Given the description of an element on the screen output the (x, y) to click on. 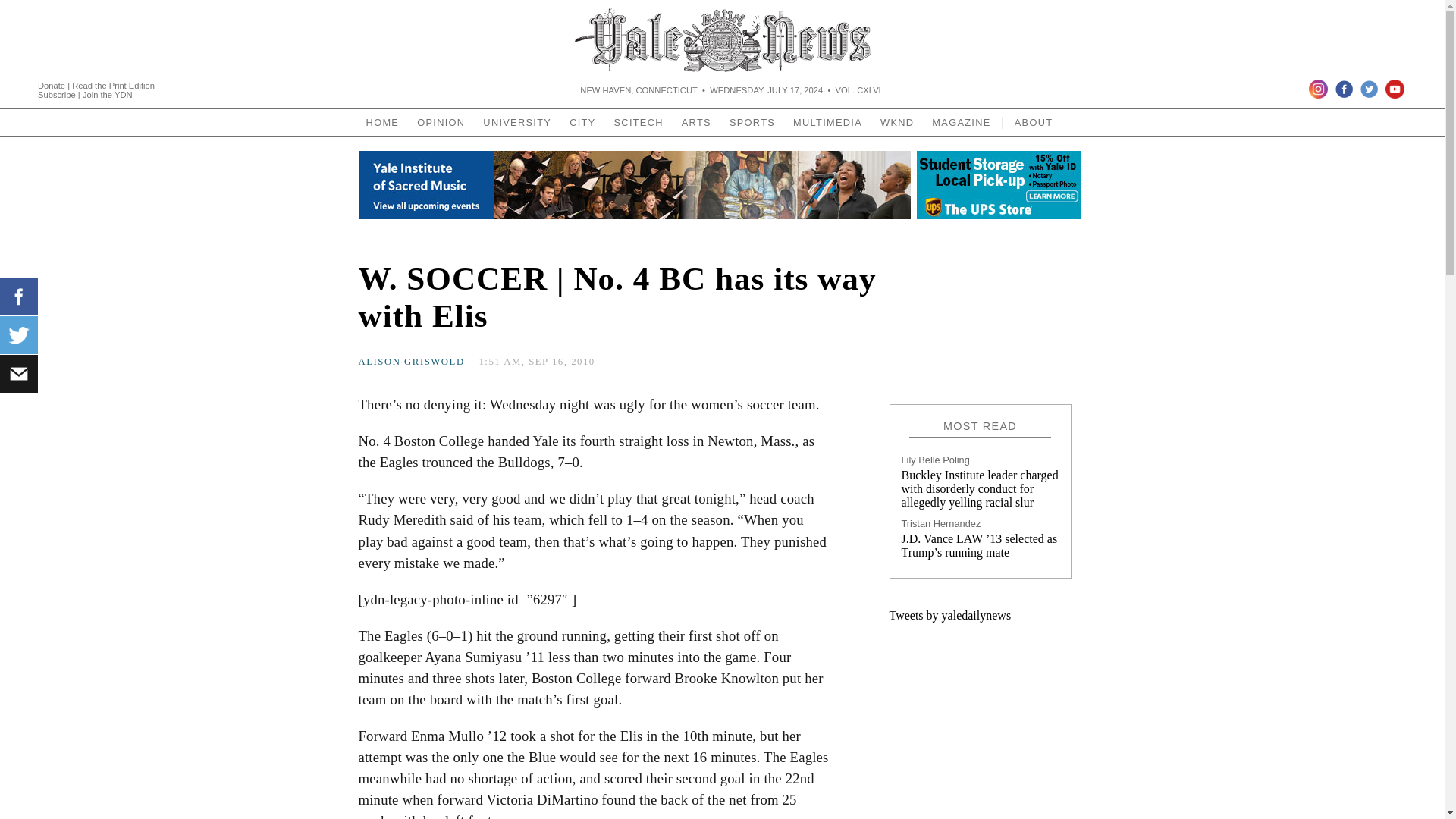
SCITECH (639, 121)
Read the Print Edition (112, 84)
Donate (51, 84)
Subscribe (57, 93)
ARTS (696, 121)
WKND (896, 121)
MULTIMEDIA (827, 121)
Subscribe (57, 93)
Join the YDN (107, 93)
OPINION (440, 121)
UNIVERSITY (517, 121)
SPORTS (752, 121)
CITY (582, 121)
HOME (382, 121)
Posts by Alison Griswold (411, 361)
